Given the description of an element on the screen output the (x, y) to click on. 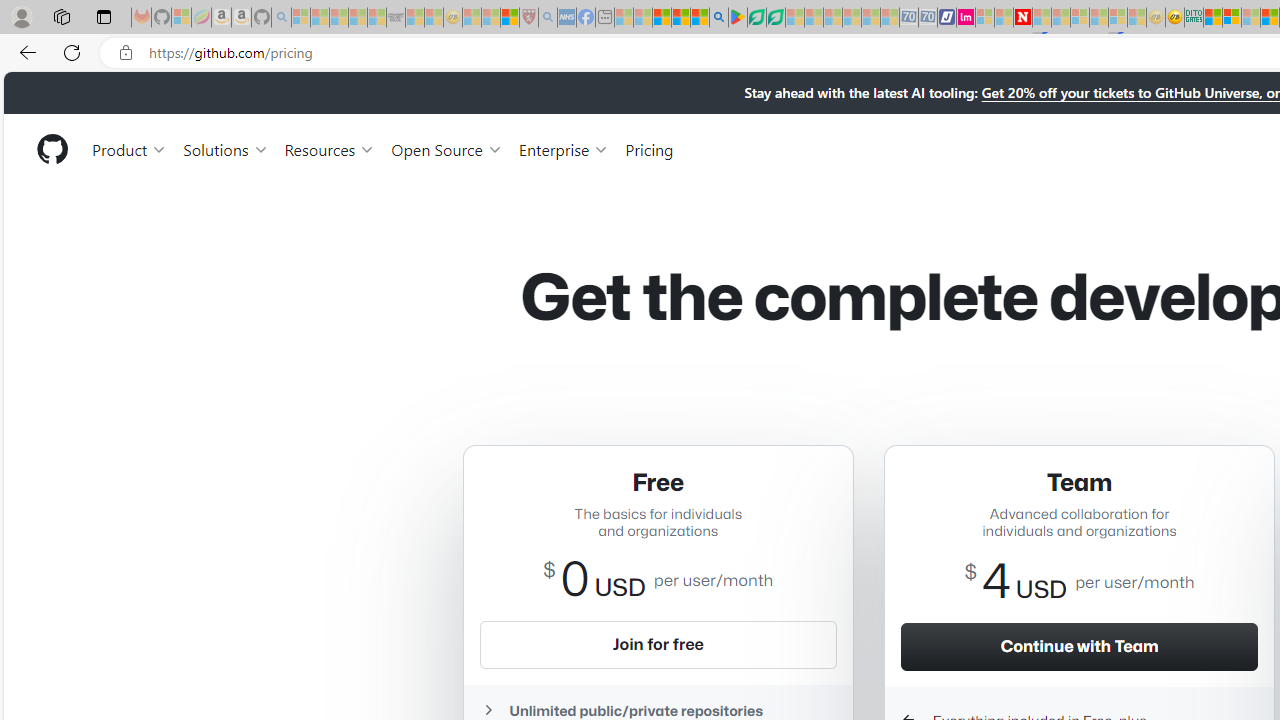
Open Source (446, 148)
